Given the description of an element on the screen output the (x, y) to click on. 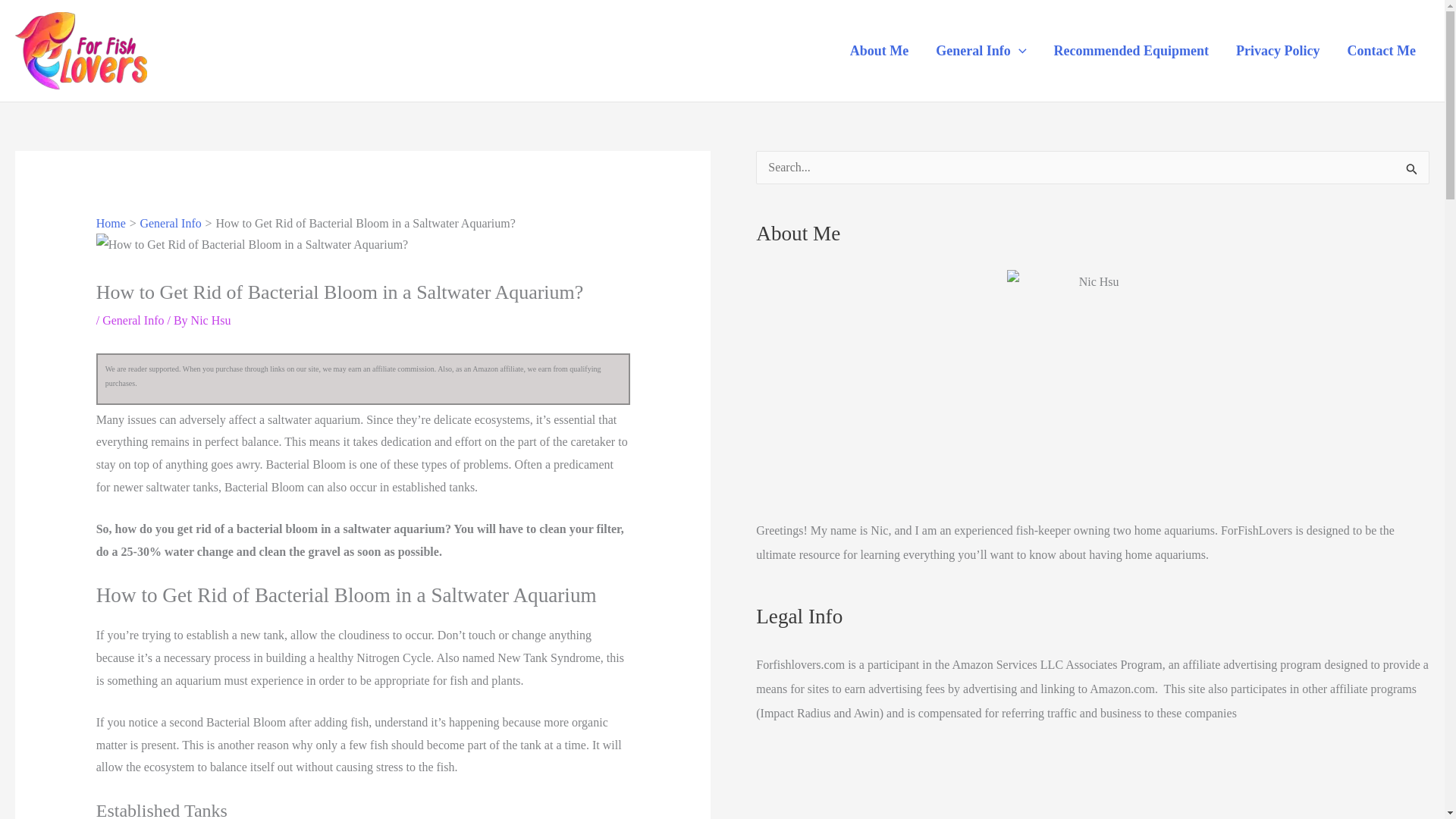
About Me (879, 50)
General Info (169, 223)
Home (110, 223)
General Info (132, 319)
Recommended Equipment (1132, 50)
View all posts by Nic Hsu (210, 319)
Contact Me (1381, 50)
Nic Hsu (210, 319)
Privacy Policy (1278, 50)
General Info (980, 50)
